Given the description of an element on the screen output the (x, y) to click on. 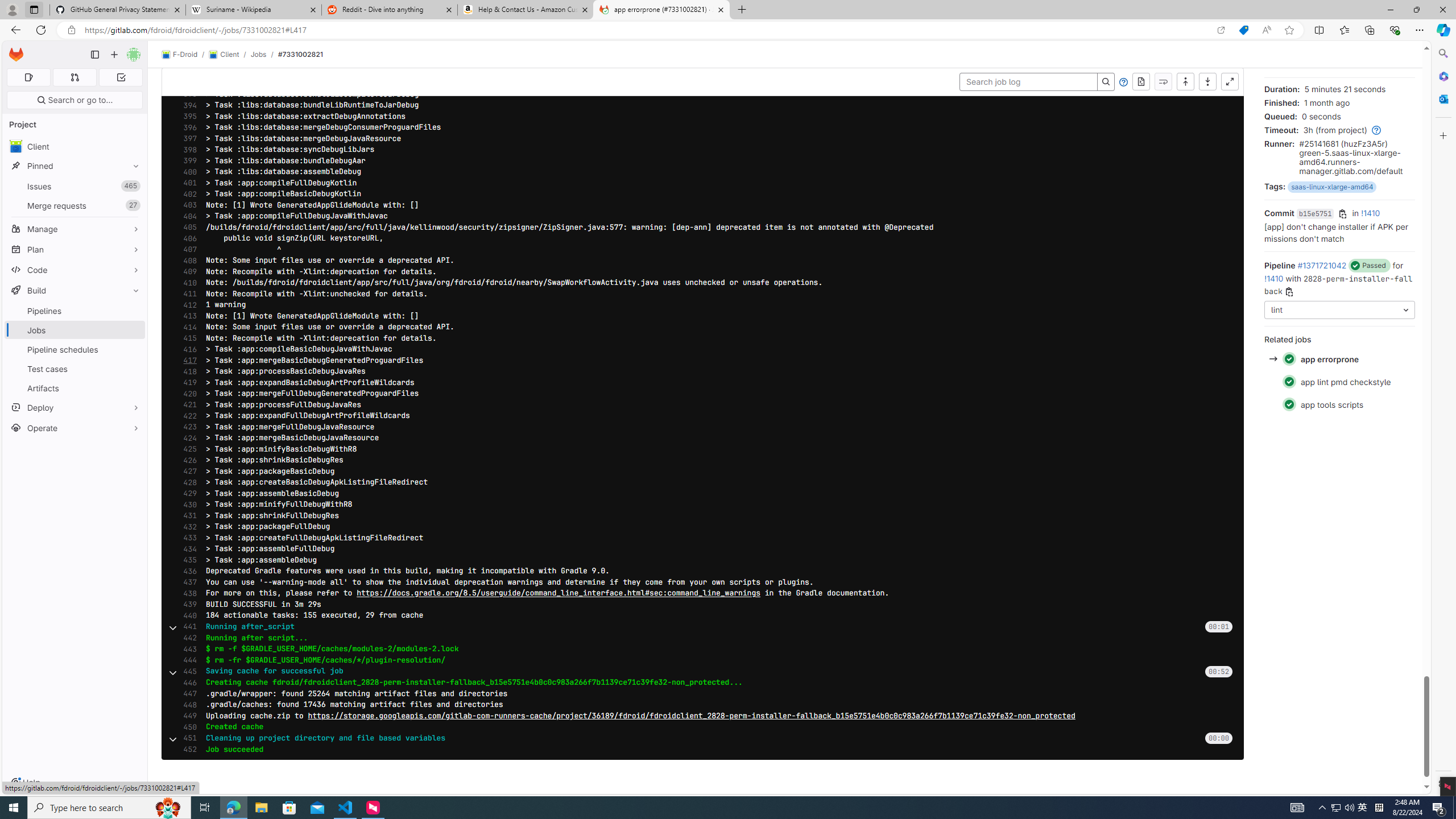
#1371721042 (1321, 265)
396 (186, 127)
442 (186, 637)
418 (186, 371)
#7331002821 (300, 53)
F-Droid/ (185, 54)
452 (186, 749)
445 (186, 671)
Plan (74, 248)
Search job log (1028, 81)
Pin Jobs (132, 329)
